Given the description of an element on the screen output the (x, y) to click on. 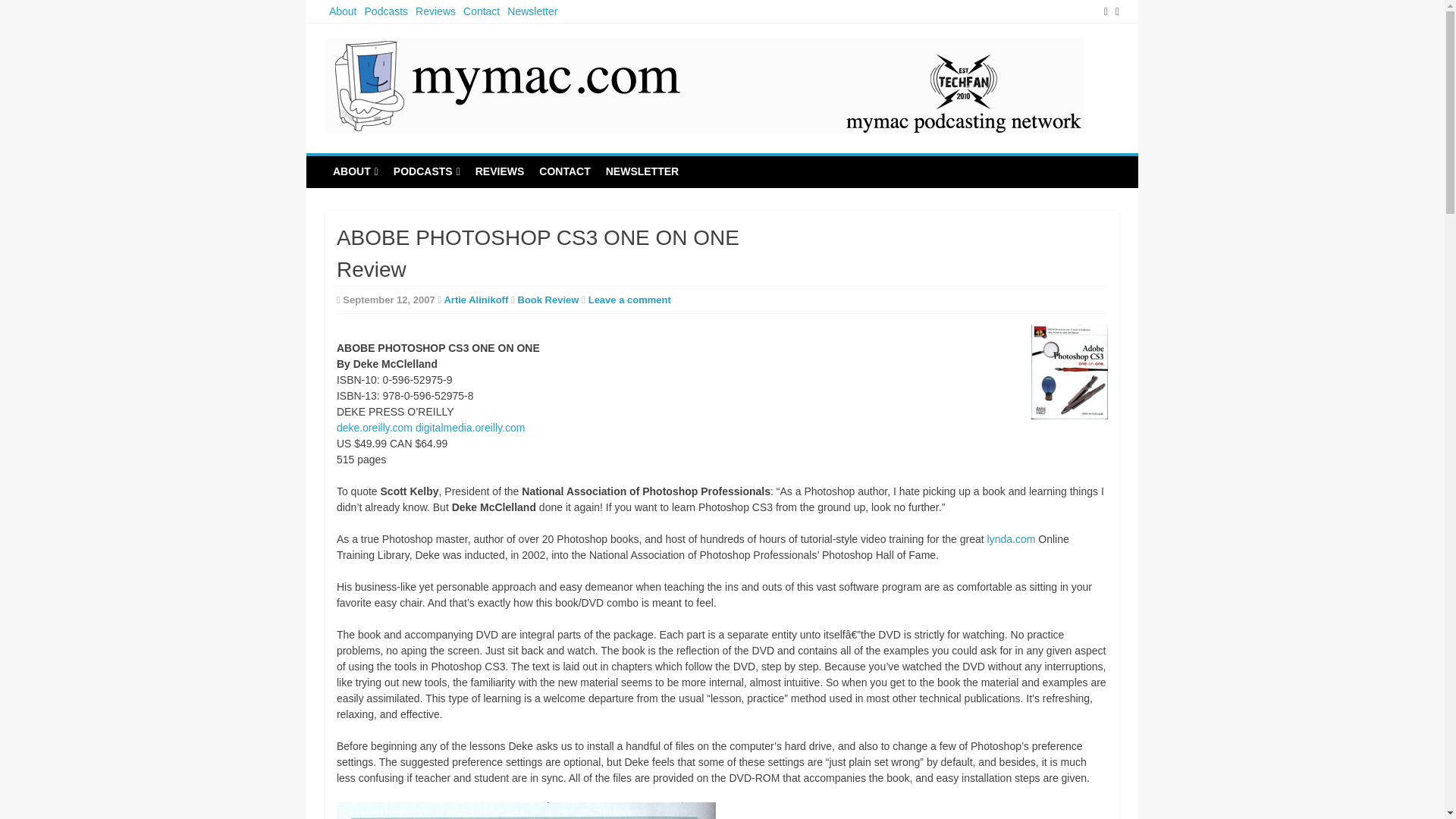
About (342, 11)
CONTACT (563, 171)
Newsletter (531, 11)
digitalmedia.oreilly.com (469, 427)
MyMac.com (389, 149)
lynda.com (1011, 539)
NEWSLETTER (641, 171)
PODCASTS (426, 172)
Artie Alinikoff (476, 299)
ABOUT (354, 172)
